Given the description of an element on the screen output the (x, y) to click on. 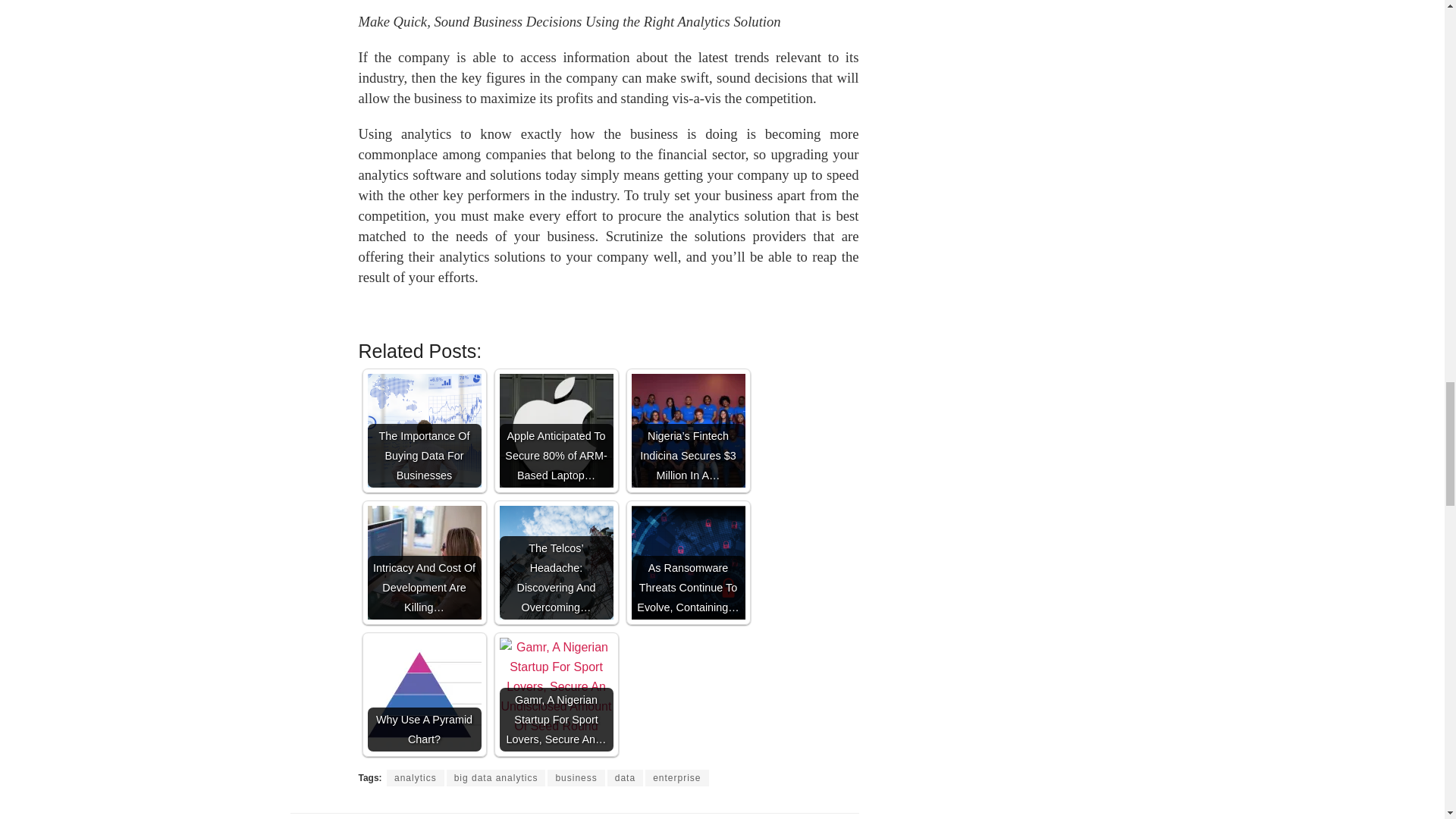
Why Use A Pyramid Chart? (423, 694)
The Importance Of Buying Data For Businesses (423, 430)
